Given the description of an element on the screen output the (x, y) to click on. 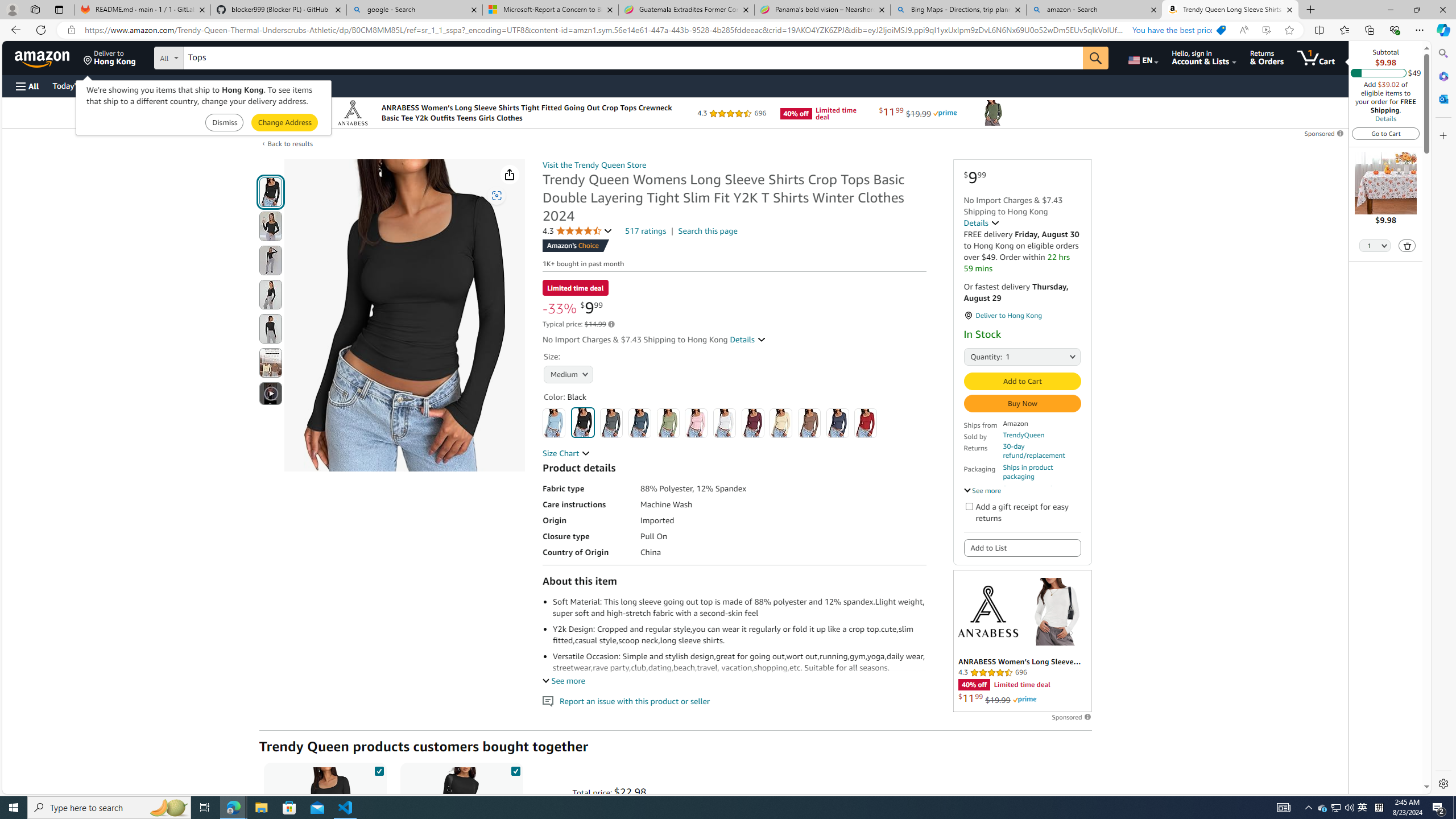
Coffee Grey (809, 422)
Quantity Selector (1374, 246)
Customer Service (145, 85)
Amazon (43, 57)
Details (1385, 118)
Go (1096, 57)
Quantity: (976, 355)
Red (865, 422)
30-day refund/replacement (1042, 451)
